Given the description of an element on the screen output the (x, y) to click on. 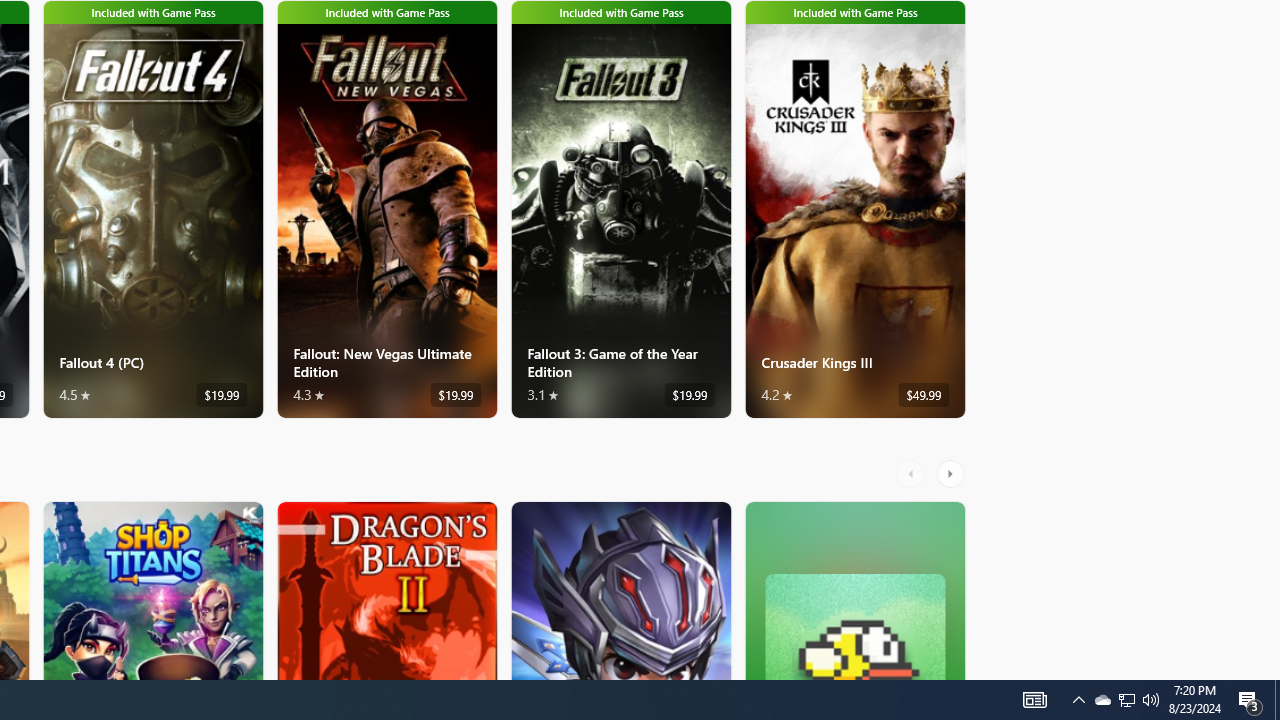
Flappy Bird. Average rating of 3.3 out of five stars. Free   (854, 590)
AutomationID: RightScrollButton (952, 473)
AutomationID: LeftScrollButton (913, 473)
